Given the description of an element on the screen output the (x, y) to click on. 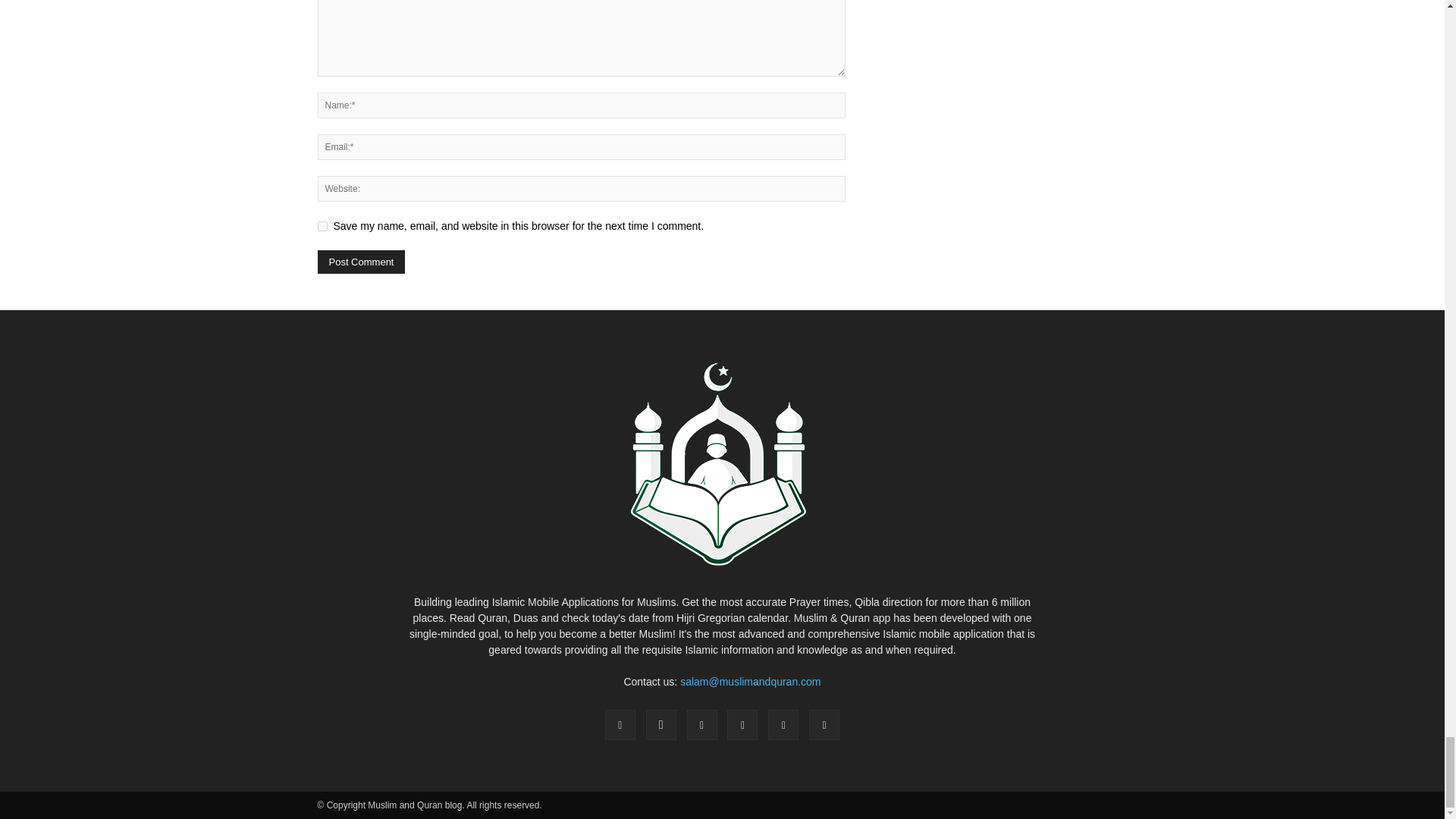
Post Comment (360, 261)
yes (321, 225)
